Given the description of an element on the screen output the (x, y) to click on. 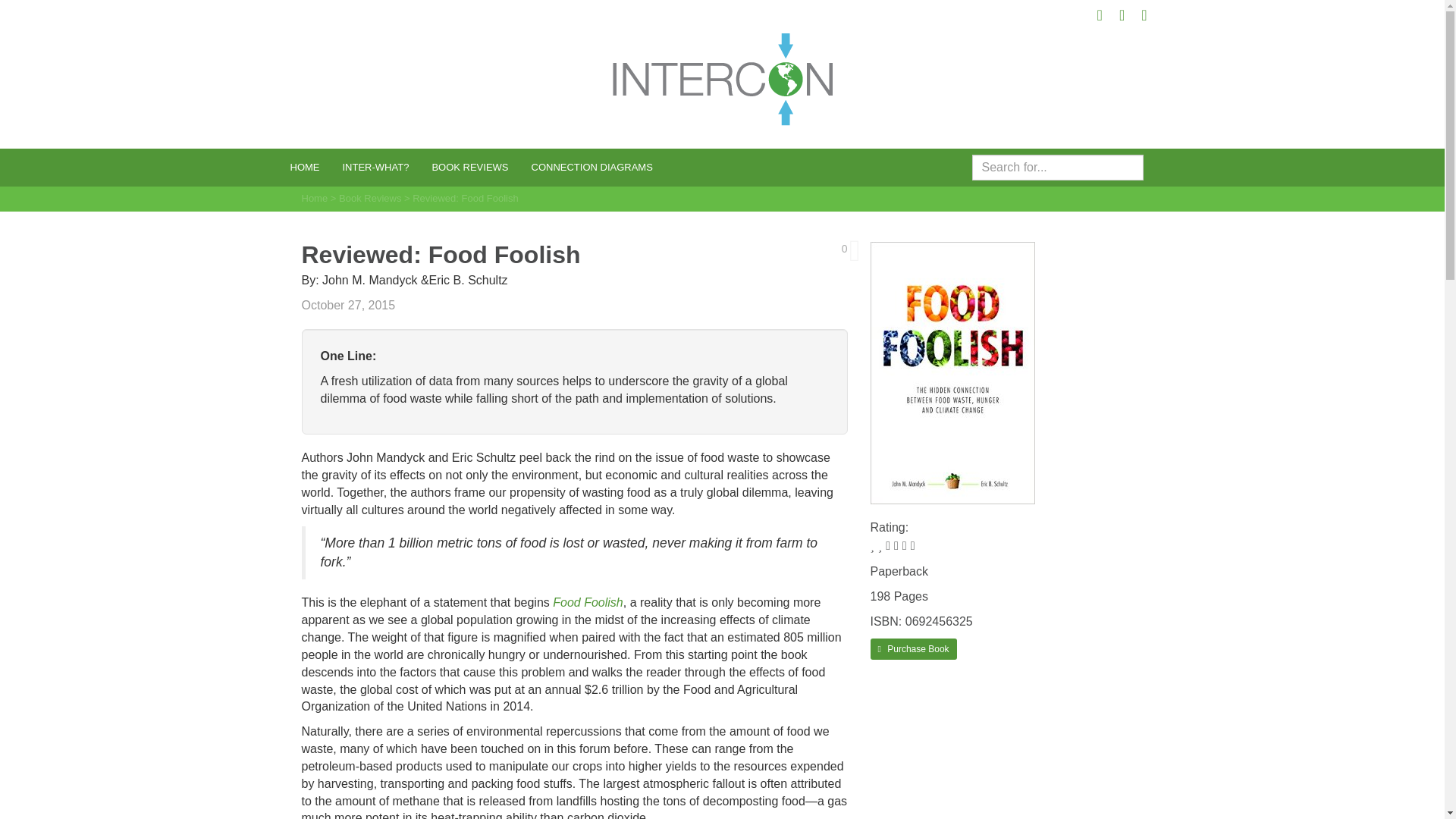
Purchase Book (913, 649)
CONNECTION DIAGRAMS (591, 167)
Connection Diagrams (591, 167)
BOOK REVIEWS (469, 167)
Home (315, 197)
Inter-what? (375, 167)
Book Reviews (469, 167)
INTER-WHAT? (375, 167)
Food Foolish (588, 602)
HOME (305, 167)
Book Reviews (370, 197)
Intercon (721, 78)
Home (305, 167)
